Given the description of an element on the screen output the (x, y) to click on. 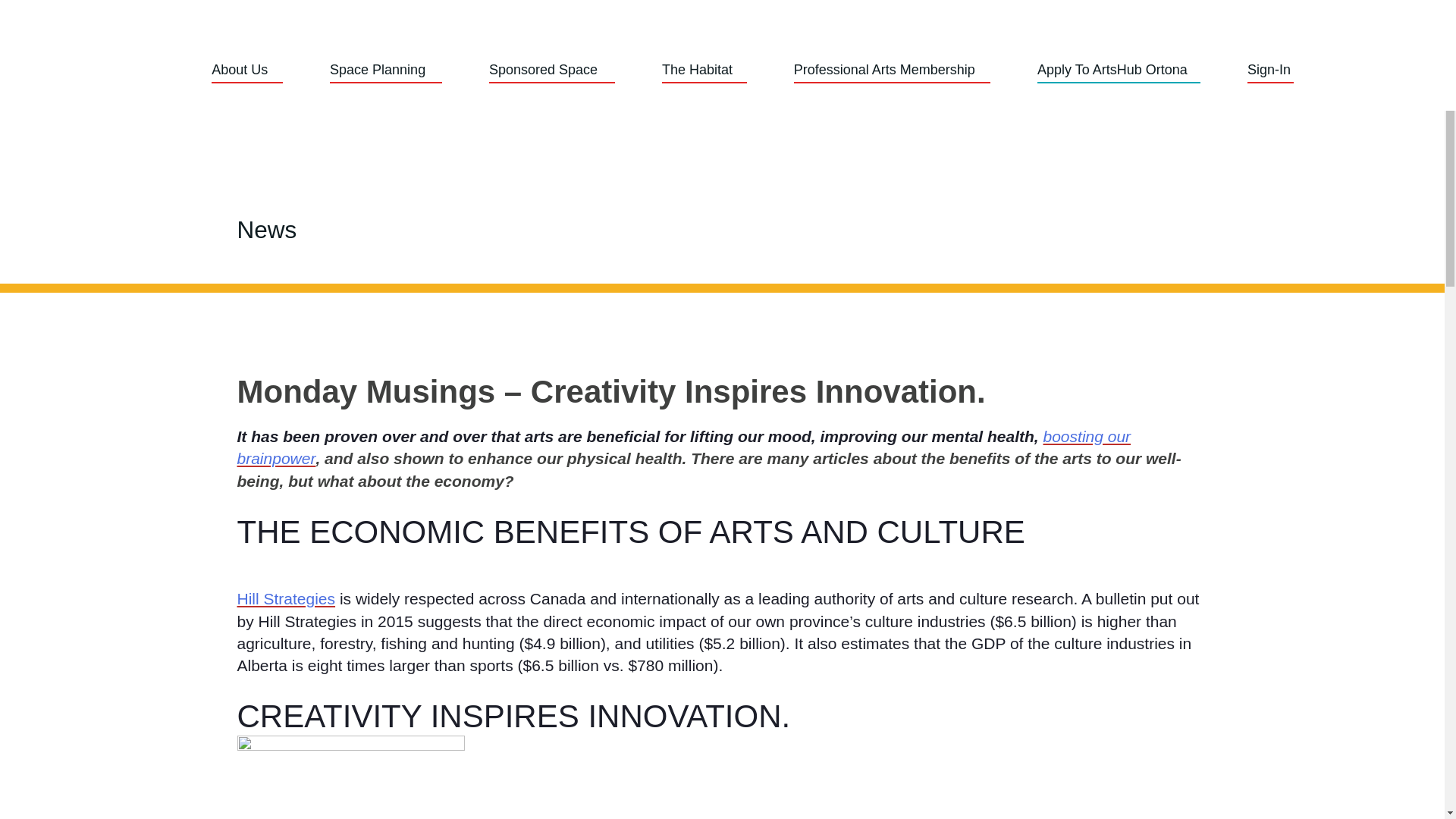
Professional Arts Membership (891, 70)
boosting our brainpower (683, 446)
Space Planning (380, 70)
Sponsored Space (546, 70)
Sign-In (1270, 70)
About Us (241, 70)
Hill Strategies (284, 598)
Space Planning (380, 70)
About Us (241, 70)
Sponsored Space (546, 70)
